Given the description of an element on the screen output the (x, y) to click on. 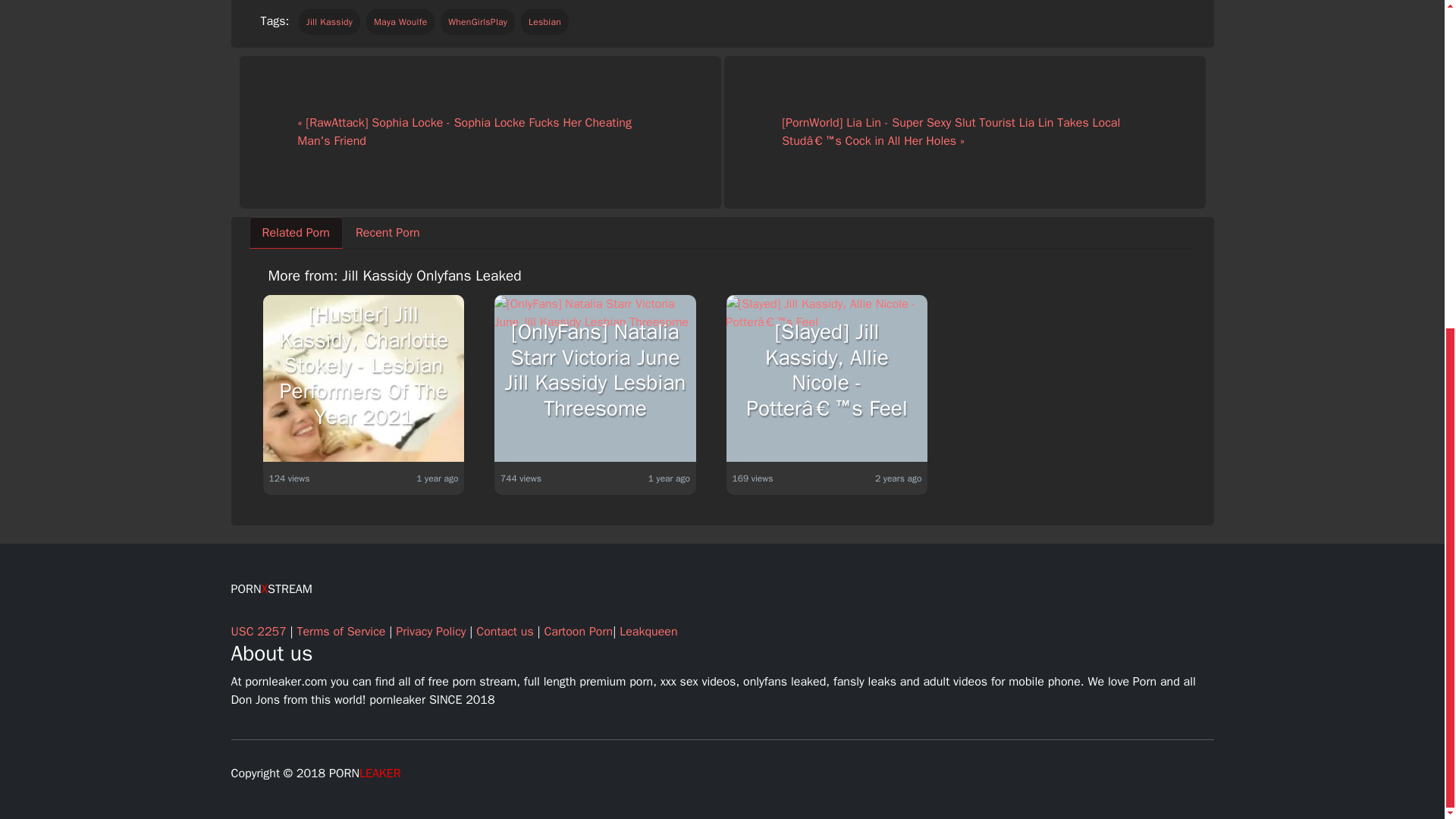
Recent Porn (387, 232)
Lesbian (545, 22)
WhenGirlsPlay (478, 22)
Jill Kassidy (328, 22)
Related Porn (295, 232)
Maya Woulfe (399, 22)
